Given the description of an element on the screen output the (x, y) to click on. 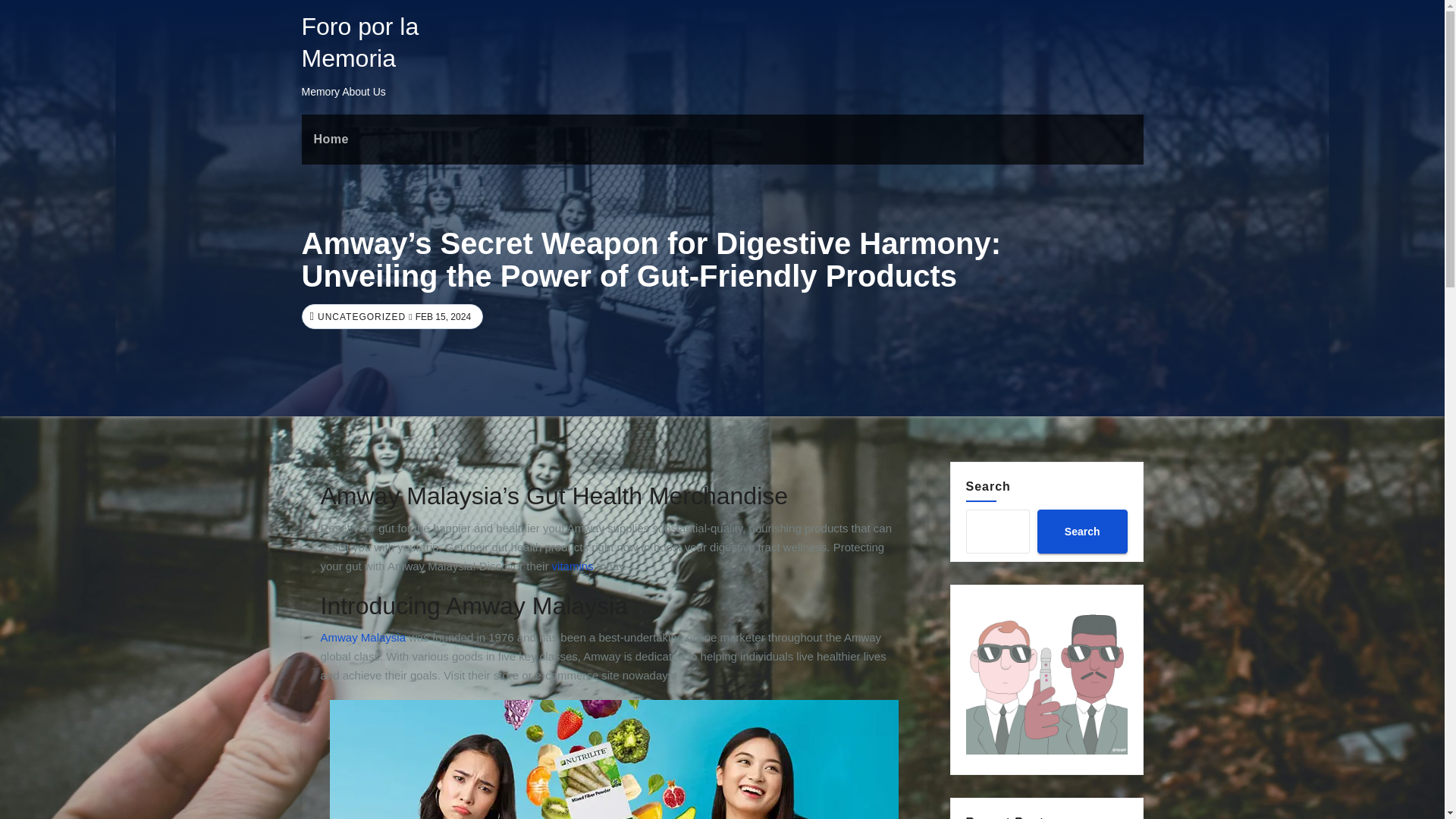
vitamins (572, 565)
Home (331, 139)
UNCATEGORIZED (360, 317)
Amway Malaysia (363, 636)
Search (1081, 531)
Home (331, 139)
Foro por la Memoria (360, 42)
